Given the description of an element on the screen output the (x, y) to click on. 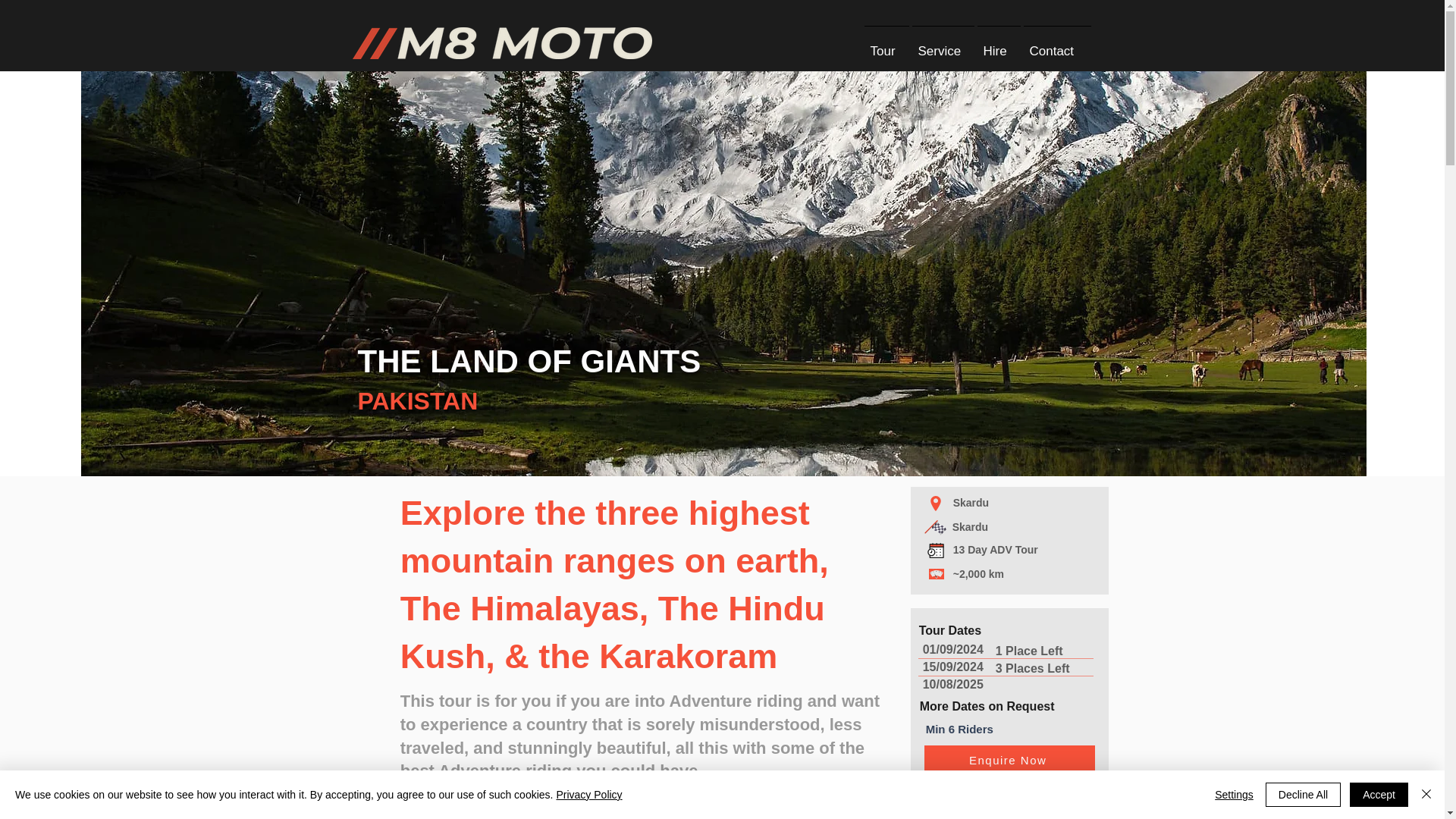
Tour (887, 44)
Accept (1378, 794)
M8 Logo Name Only.png (501, 42)
Hire (998, 44)
Service (942, 44)
Privacy Policy (588, 794)
Contact (1057, 44)
Enquire Now (1009, 760)
Decline All (1302, 794)
